Given the description of an element on the screen output the (x, y) to click on. 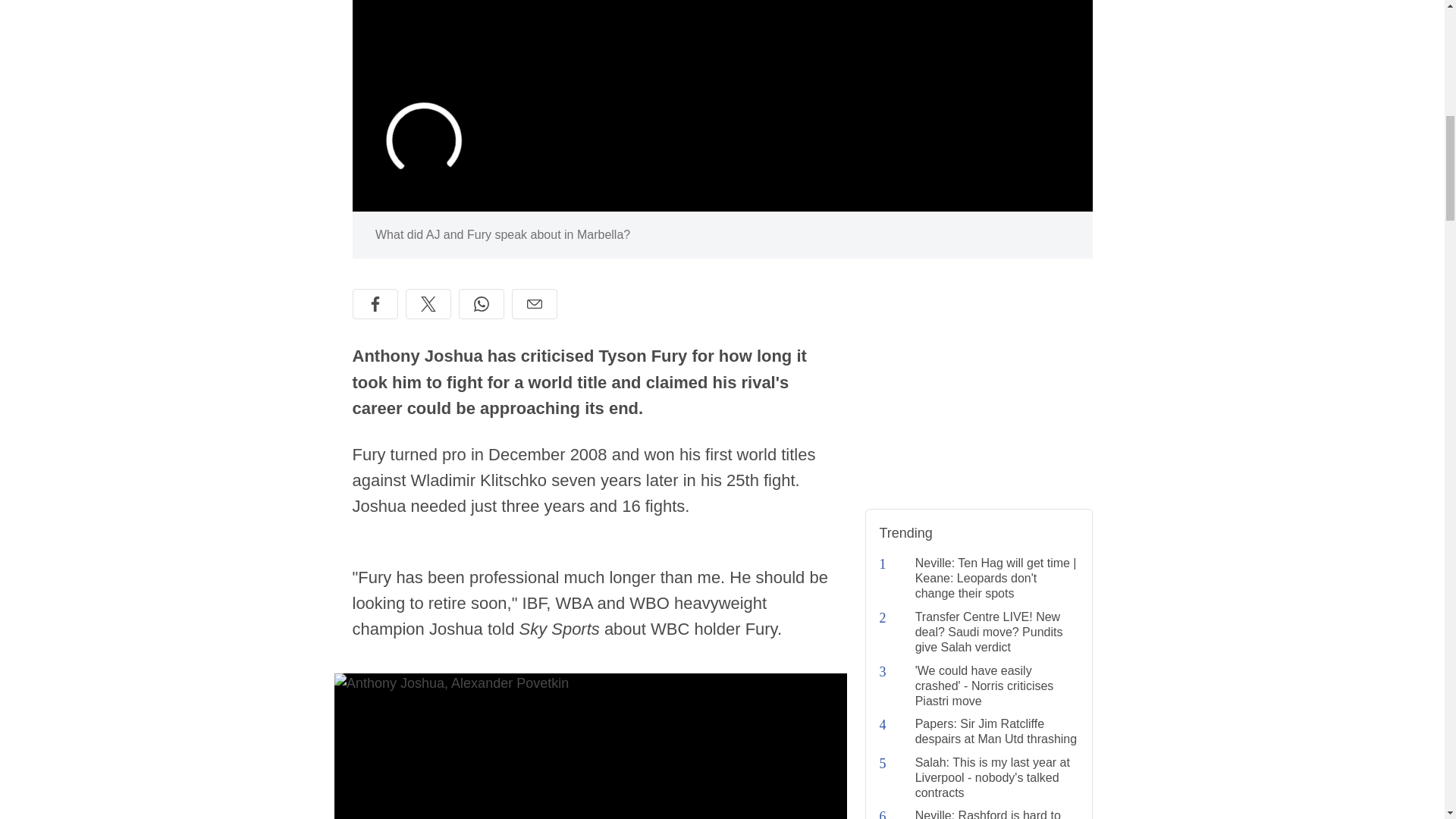
Share by email (533, 304)
Share on X (426, 304)
Share on WhatsApp (480, 304)
Share on Facebook (374, 304)
